Given the description of an element on the screen output the (x, y) to click on. 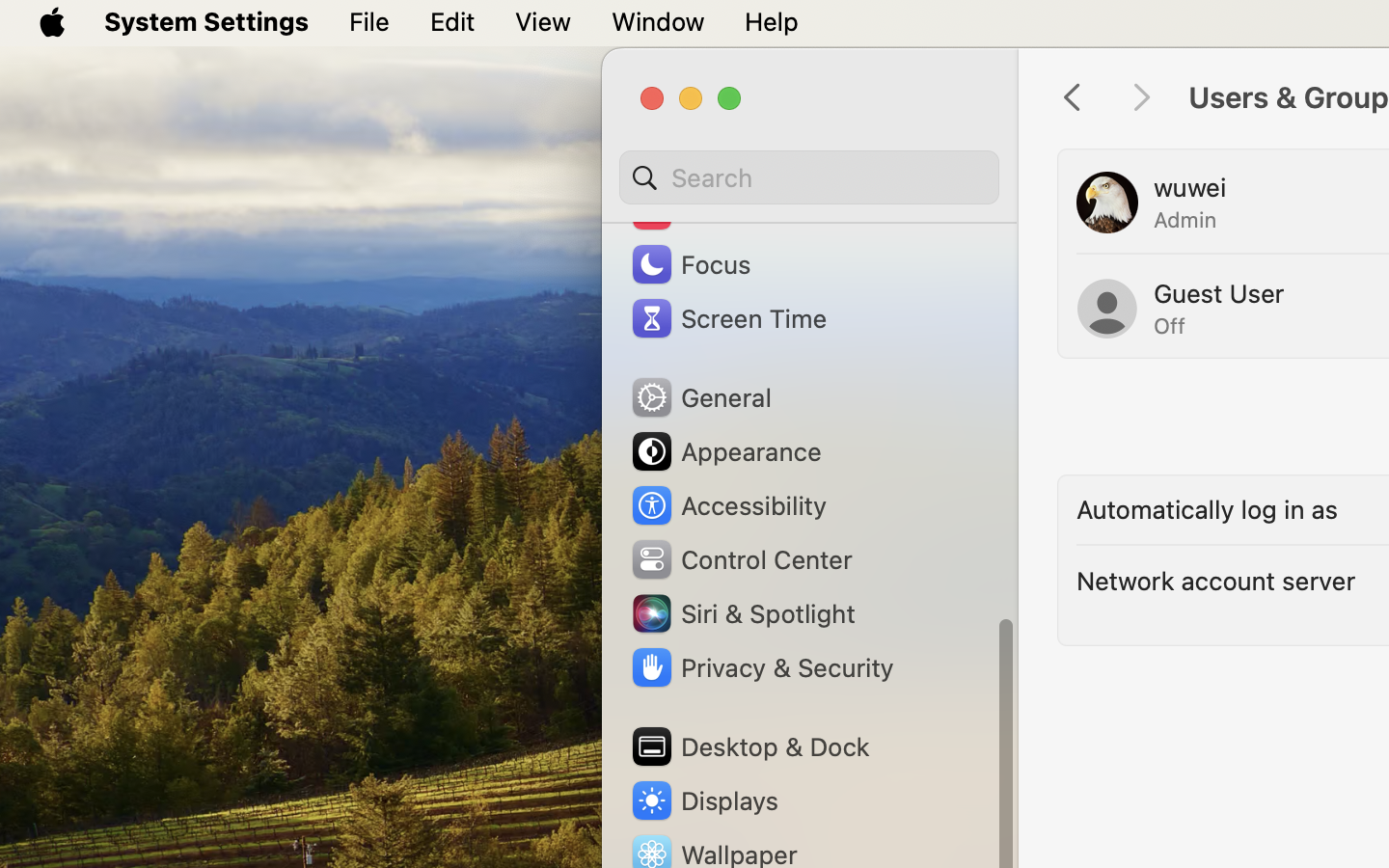
Siri & Spotlight Element type: AXStaticText (741, 613)
Admin Element type: AXStaticText (1185, 219)
Displays Element type: AXStaticText (703, 800)
Guest User Element type: AXStaticText (1218, 292)
Network account server Element type: AXStaticText (1216, 580)
